Given the description of an element on the screen output the (x, y) to click on. 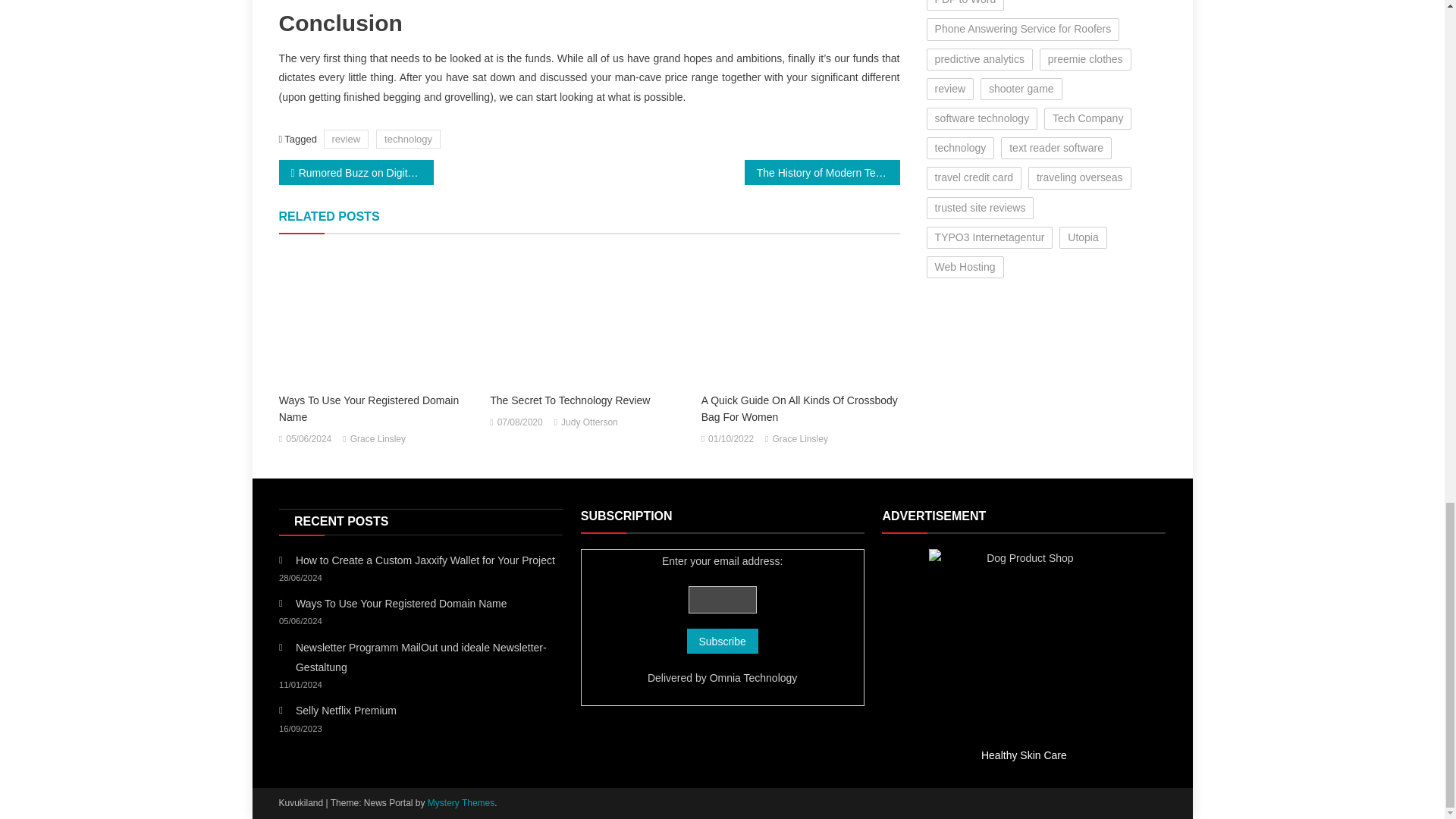
Grace Linsley (378, 439)
The History of Modern Technology App Refuted (821, 172)
Ways To Use Your Registered Domain Name (378, 316)
A Quick Guide on All Kinds of Crossbody Bag for Women (800, 316)
Ways To Use Your Registered Domain Name (378, 408)
Rumored Buzz on Digital Technology Education Exposed (356, 172)
Dog Product Shop (1023, 643)
review (346, 138)
The Secret To Technology Review (588, 316)
technology (408, 138)
Grace Linsley (800, 439)
Subscribe (722, 640)
Judy Otterson (588, 422)
A Quick Guide On All Kinds Of Crossbody Bag For Women (800, 408)
The Secret To Technology Review (588, 400)
